Given the description of an element on the screen output the (x, y) to click on. 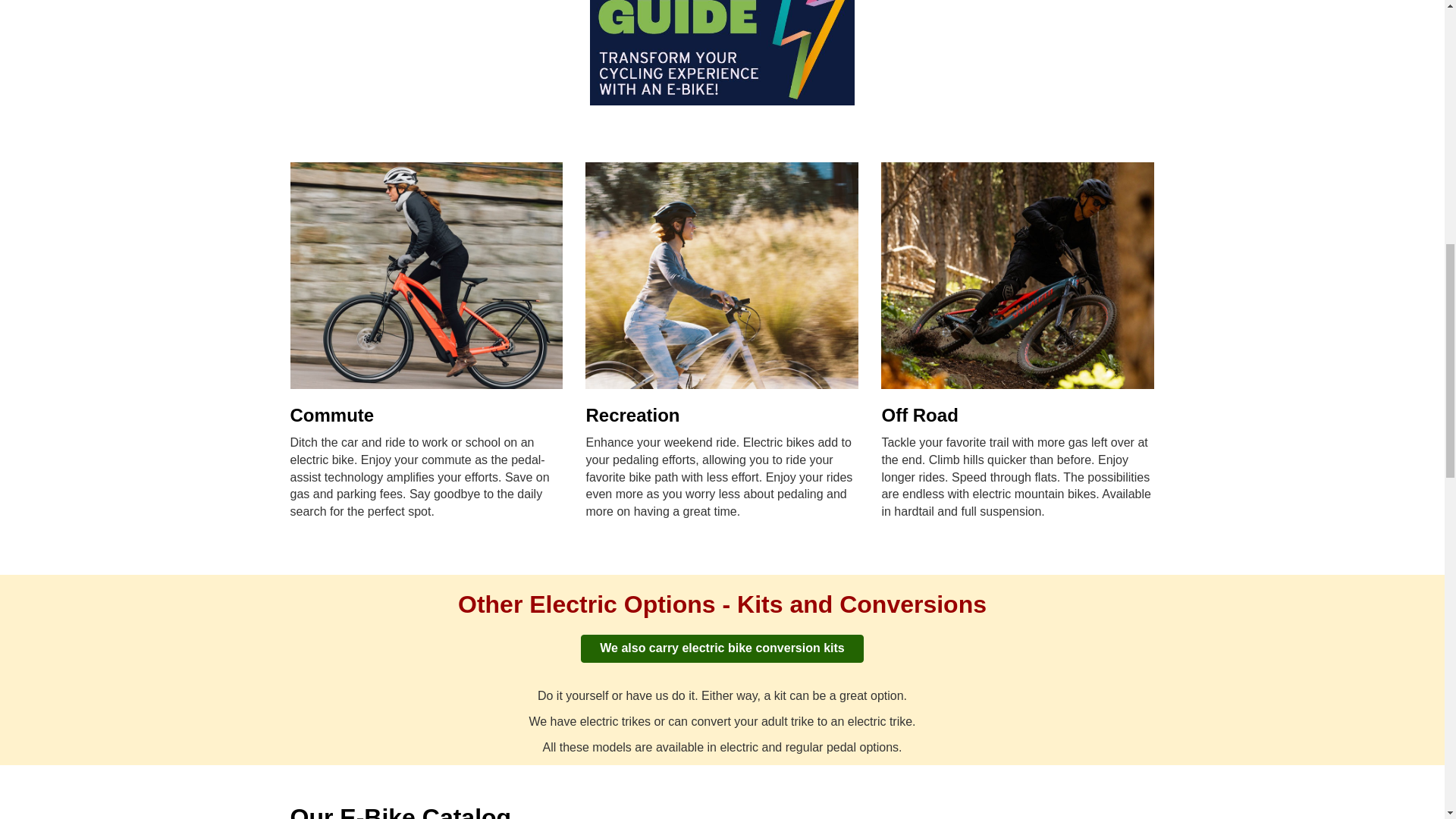
Recreational Electric Bikes (722, 275)
Electric Bike Guide (721, 52)
Commuter Electric Bikes (425, 275)
